Given the description of an element on the screen output the (x, y) to click on. 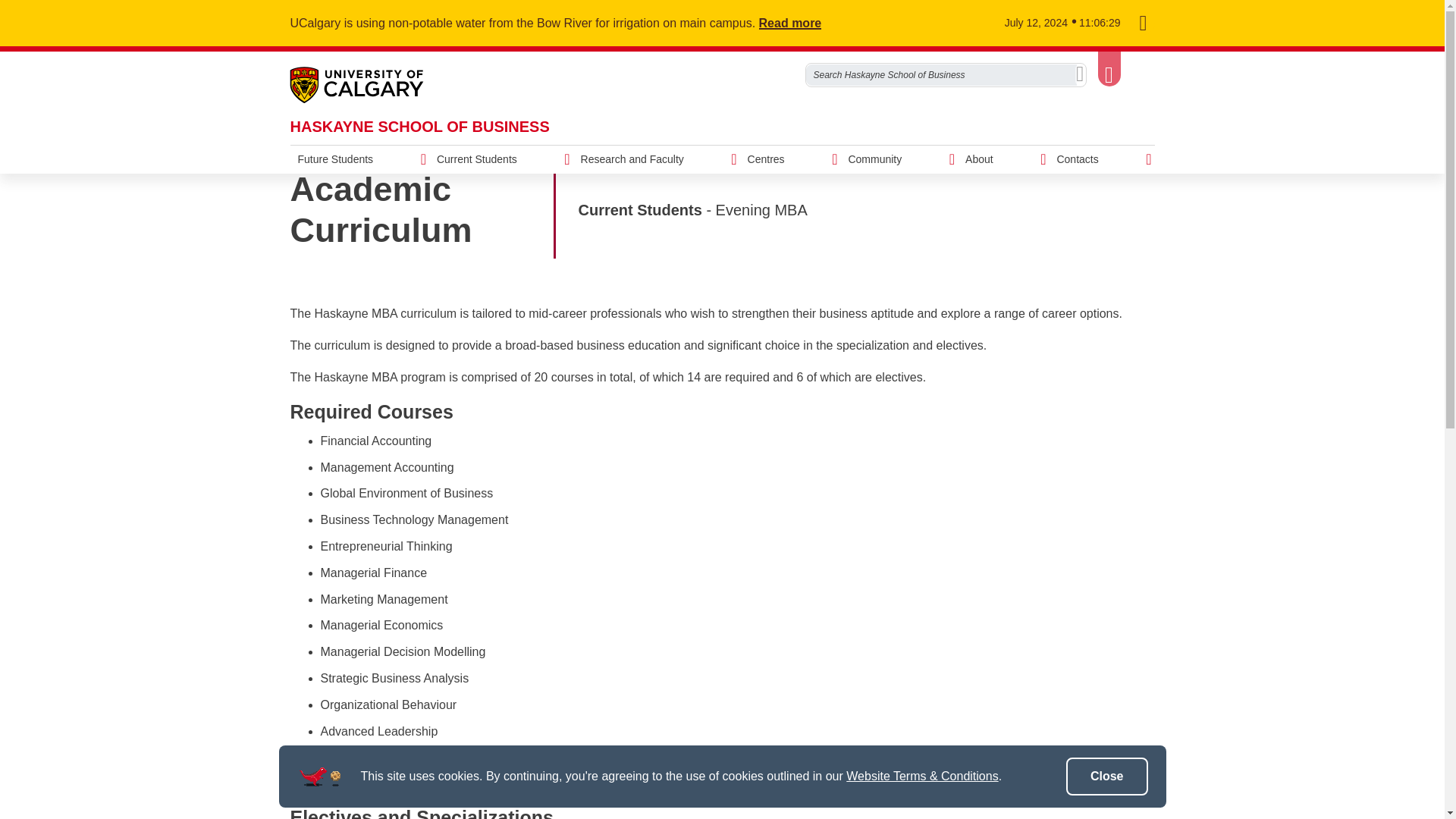
Close (1106, 776)
Toggle Site Alert Message (1142, 23)
Read more (799, 22)
